Given the description of an element on the screen output the (x, y) to click on. 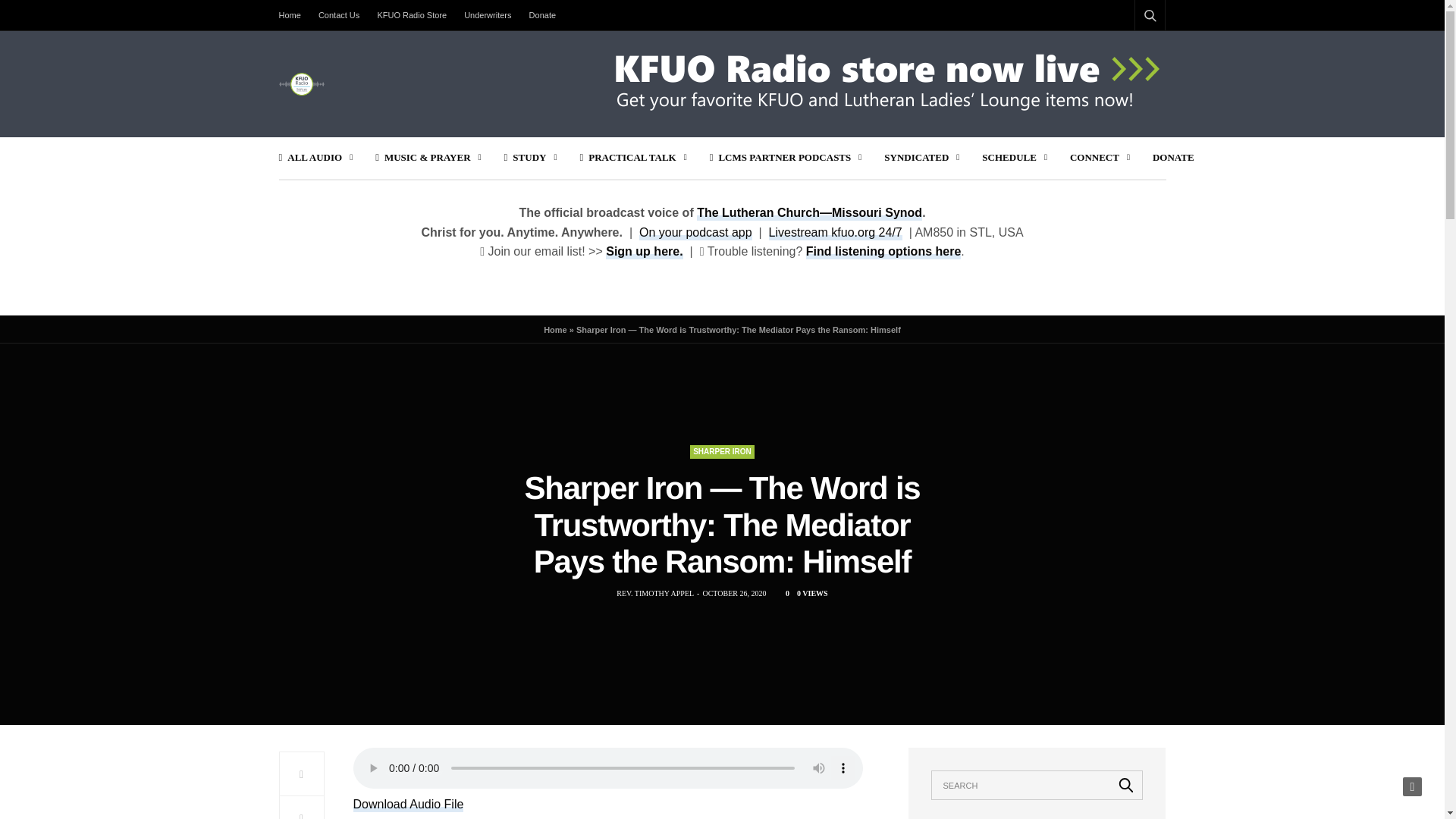
Home (293, 15)
Search (1129, 51)
Posts by Rev. Timothy Appel (654, 593)
Search (1125, 784)
ALL AUDIO (316, 157)
KFUO Radio Store (411, 15)
Sharper Iron (722, 451)
Donate (542, 15)
Underwriters (487, 15)
Contact Us (338, 15)
